Given the description of an element on the screen output the (x, y) to click on. 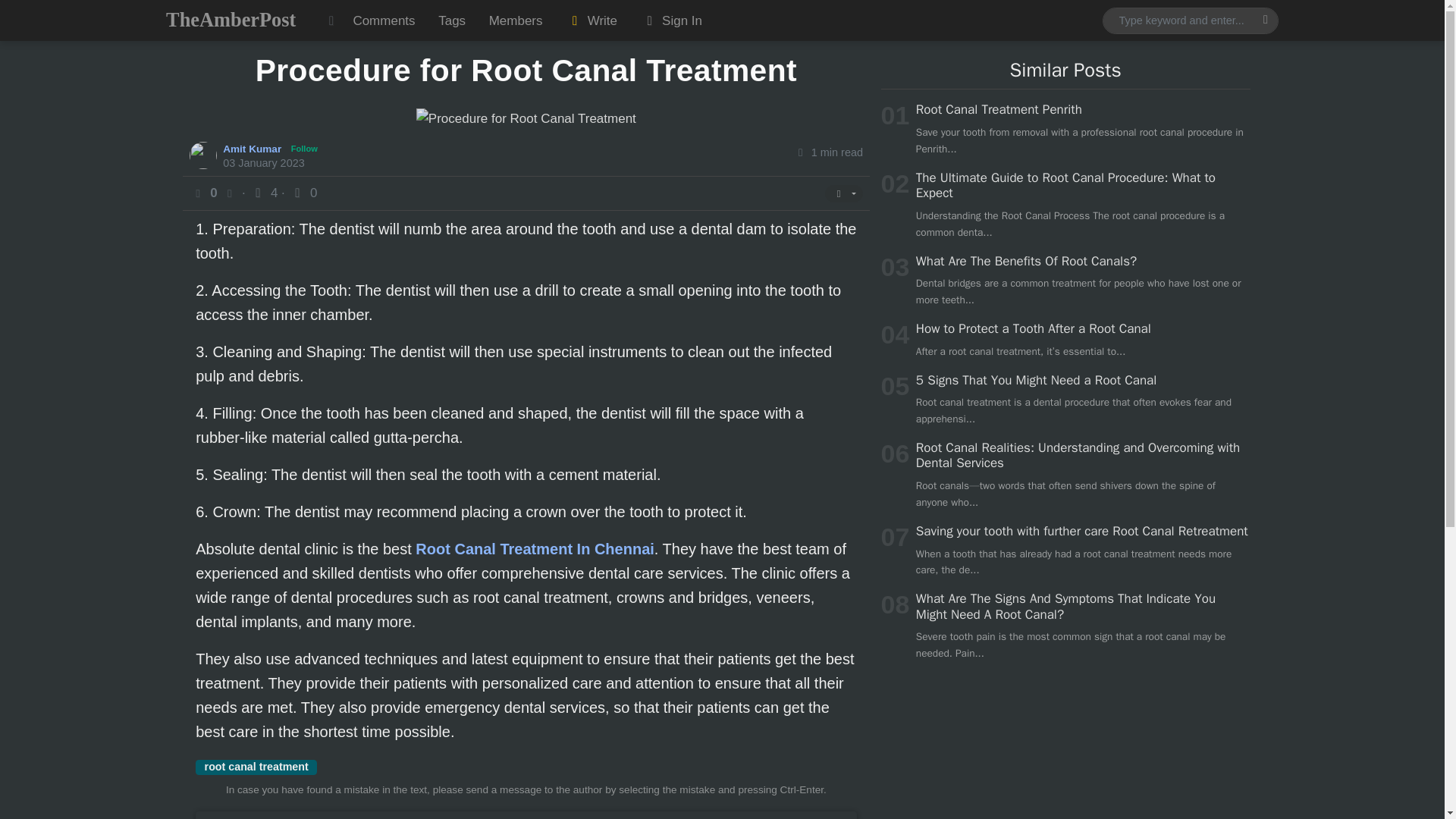
0 (302, 192)
Root Canal Treatment In Chennai (533, 548)
Write (591, 20)
root canal treatment (256, 767)
Follow (304, 148)
What Are The Benefits Of Root Canals? (1026, 261)
Root Canal Treatment Penrith (998, 109)
Tags (451, 20)
TheAmberPost (230, 20)
Members (515, 20)
